Given the description of an element on the screen output the (x, y) to click on. 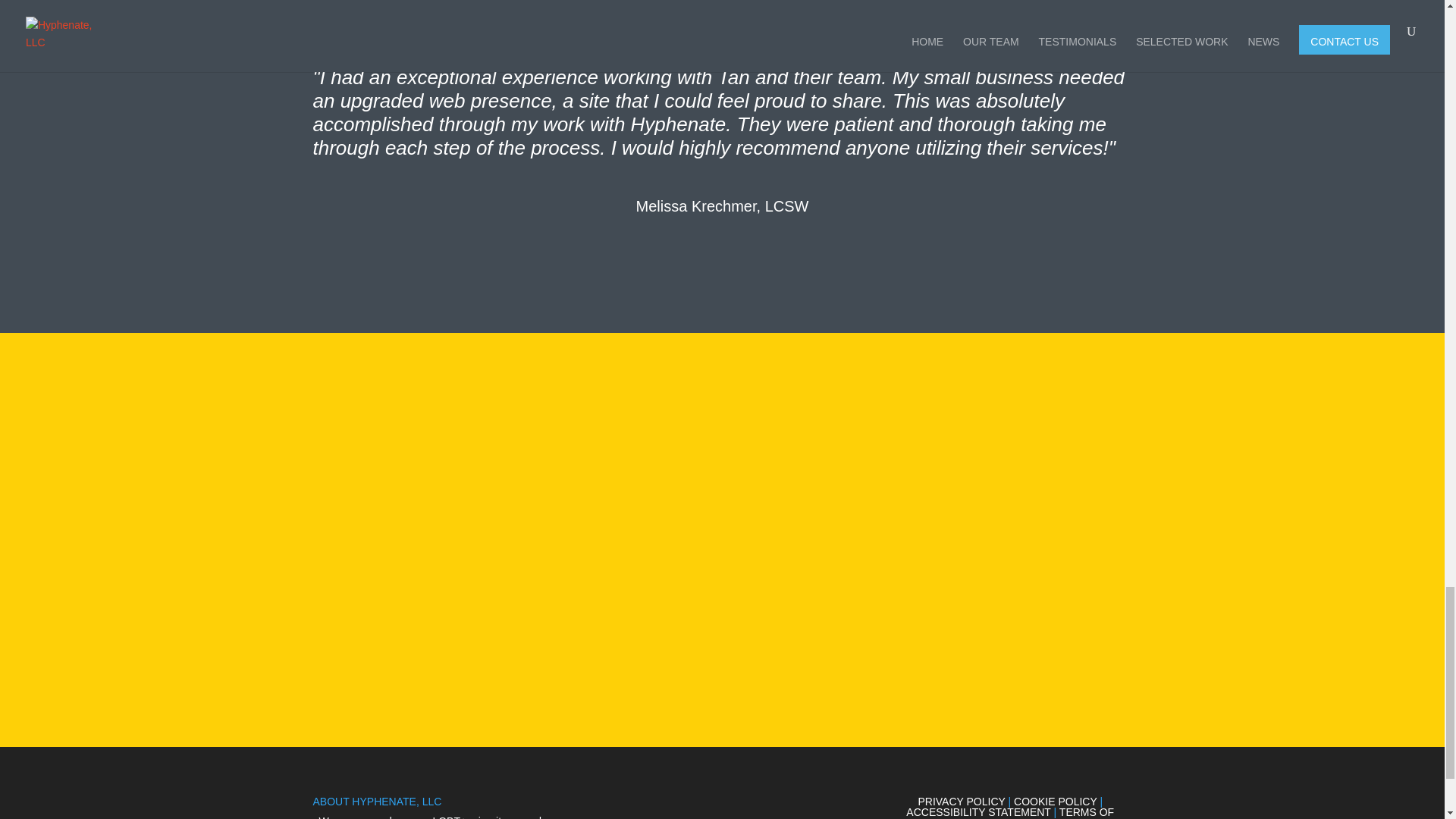
PRIVACY POLICY (960, 801)
TERMS OF SERVICE (1051, 812)
ACCESSIBILITY STATEMENT (977, 811)
COOKIE POLICY (1054, 801)
